Given the description of an element on the screen output the (x, y) to click on. 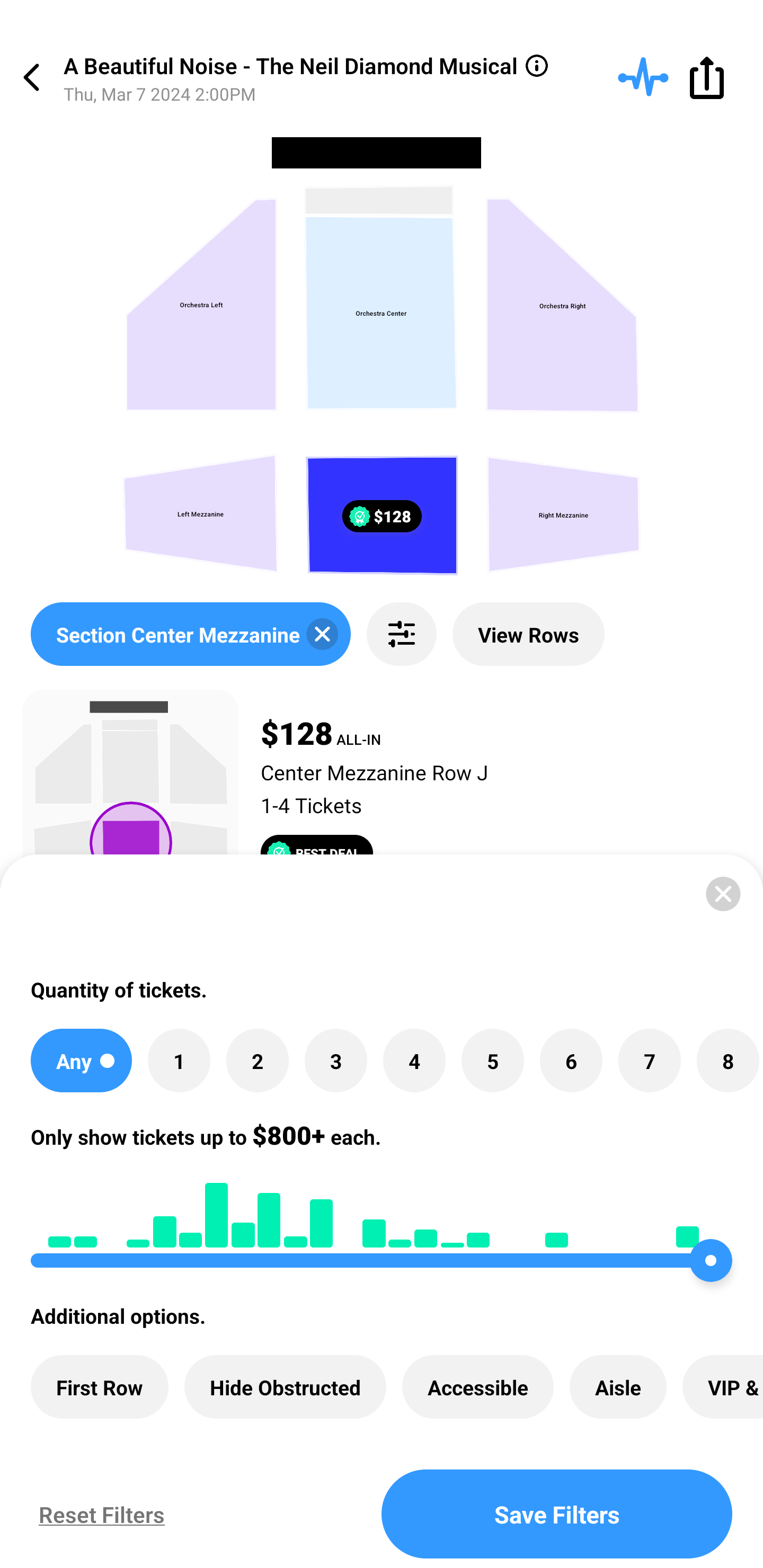
Any (80, 1060)
1 (179, 1060)
2 (257, 1060)
3 (335, 1060)
4 (414, 1060)
5 (492, 1060)
6 (571, 1060)
7 (649, 1060)
8 (727, 1060)
First Row (99, 1386)
Hide Obstructed (285, 1386)
Accessible (477, 1386)
Aisle (617, 1386)
Save Filters (556, 1513)
Reset Filters (97, 1513)
